Given the description of an element on the screen output the (x, y) to click on. 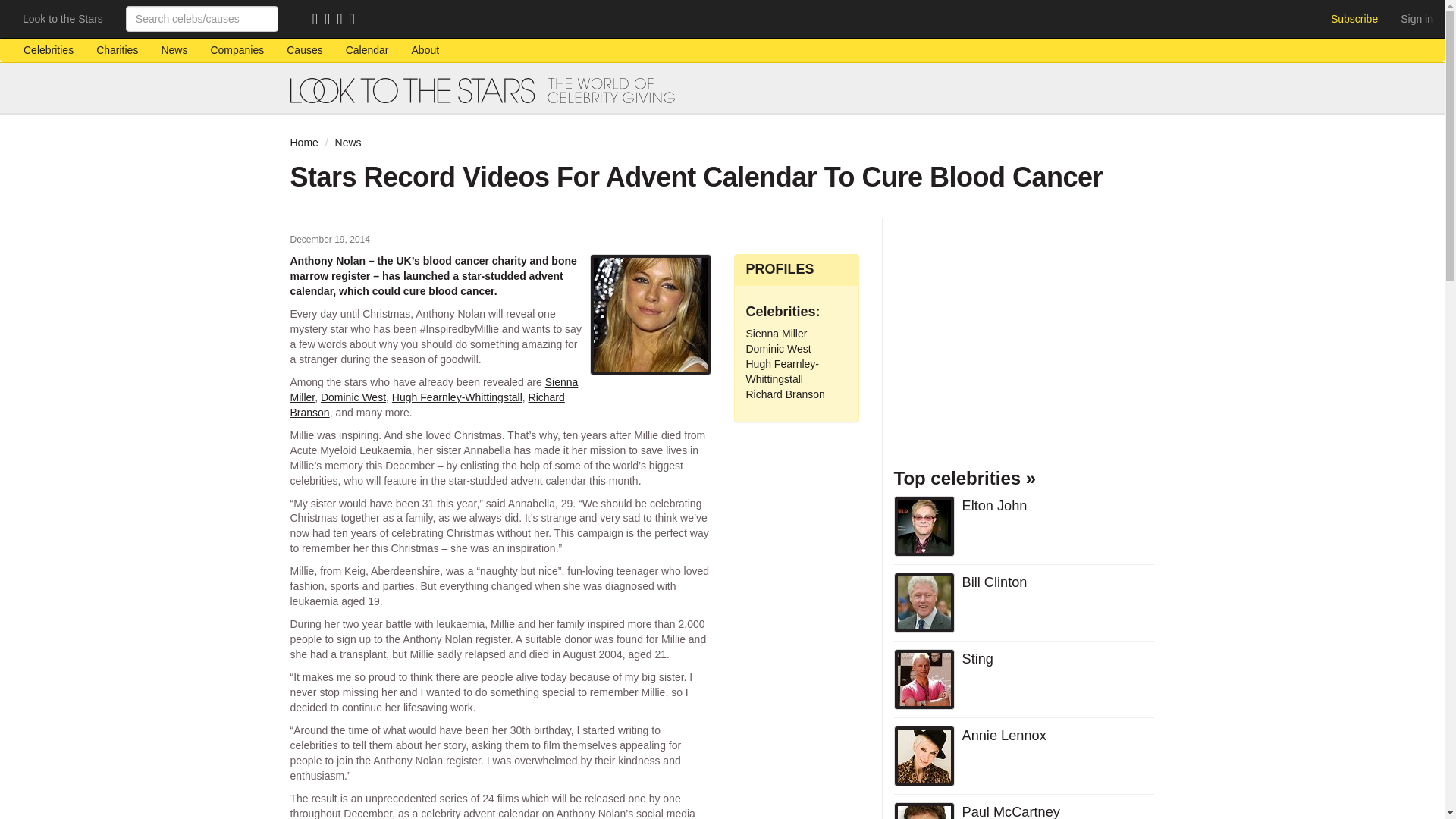
Calendar of celebrity charity events (367, 49)
Companies (236, 49)
Hugh Fearnley-Whittingstall (456, 397)
Causes (304, 49)
News (173, 49)
Subscribe (1354, 18)
Celebrities (47, 49)
News about celebrities doing good (173, 49)
Home (303, 142)
Find out more about this website (425, 49)
